Given the description of an element on the screen output the (x, y) to click on. 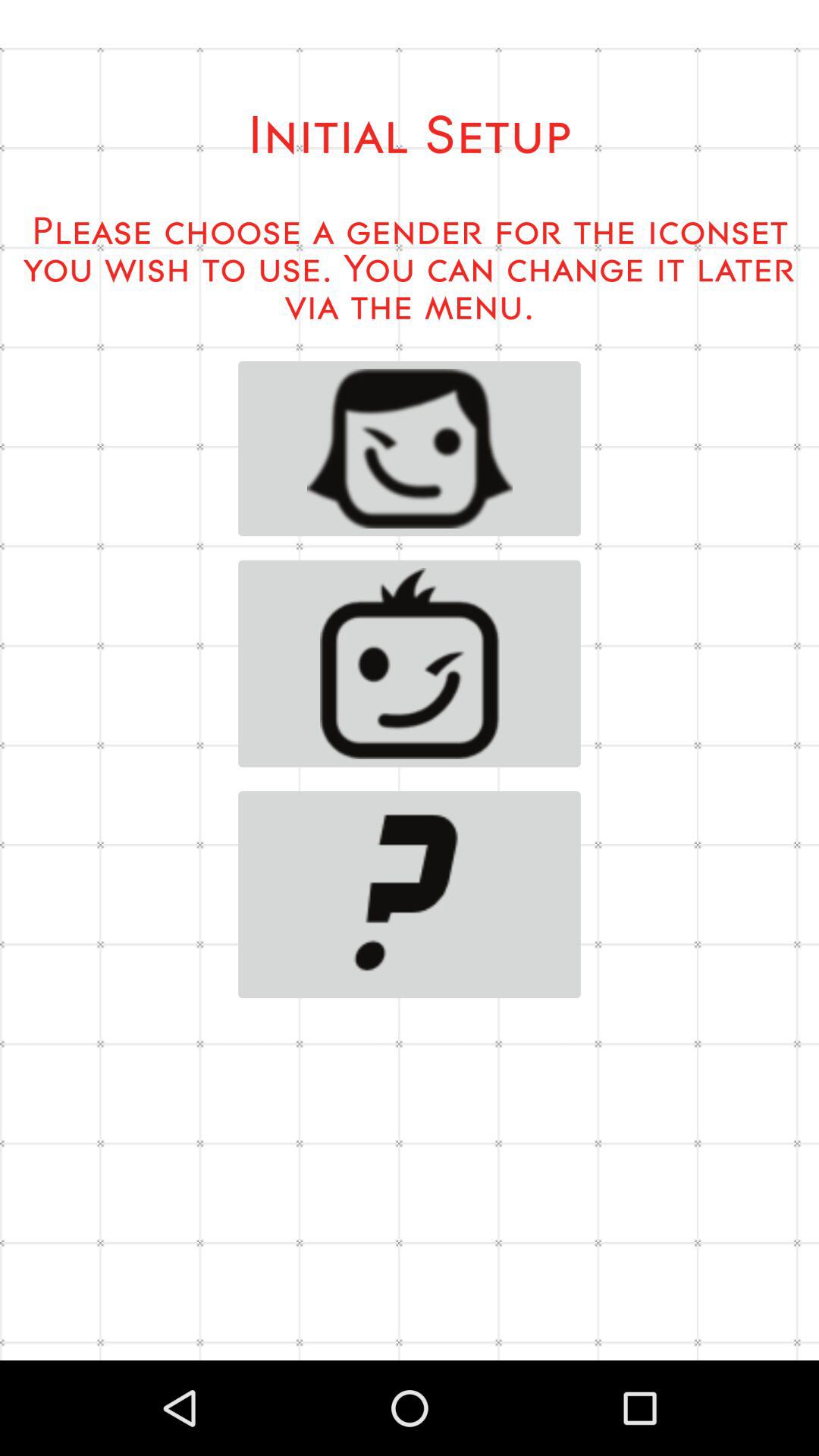
tap item below the please choose a app (409, 448)
